Given the description of an element on the screen output the (x, y) to click on. 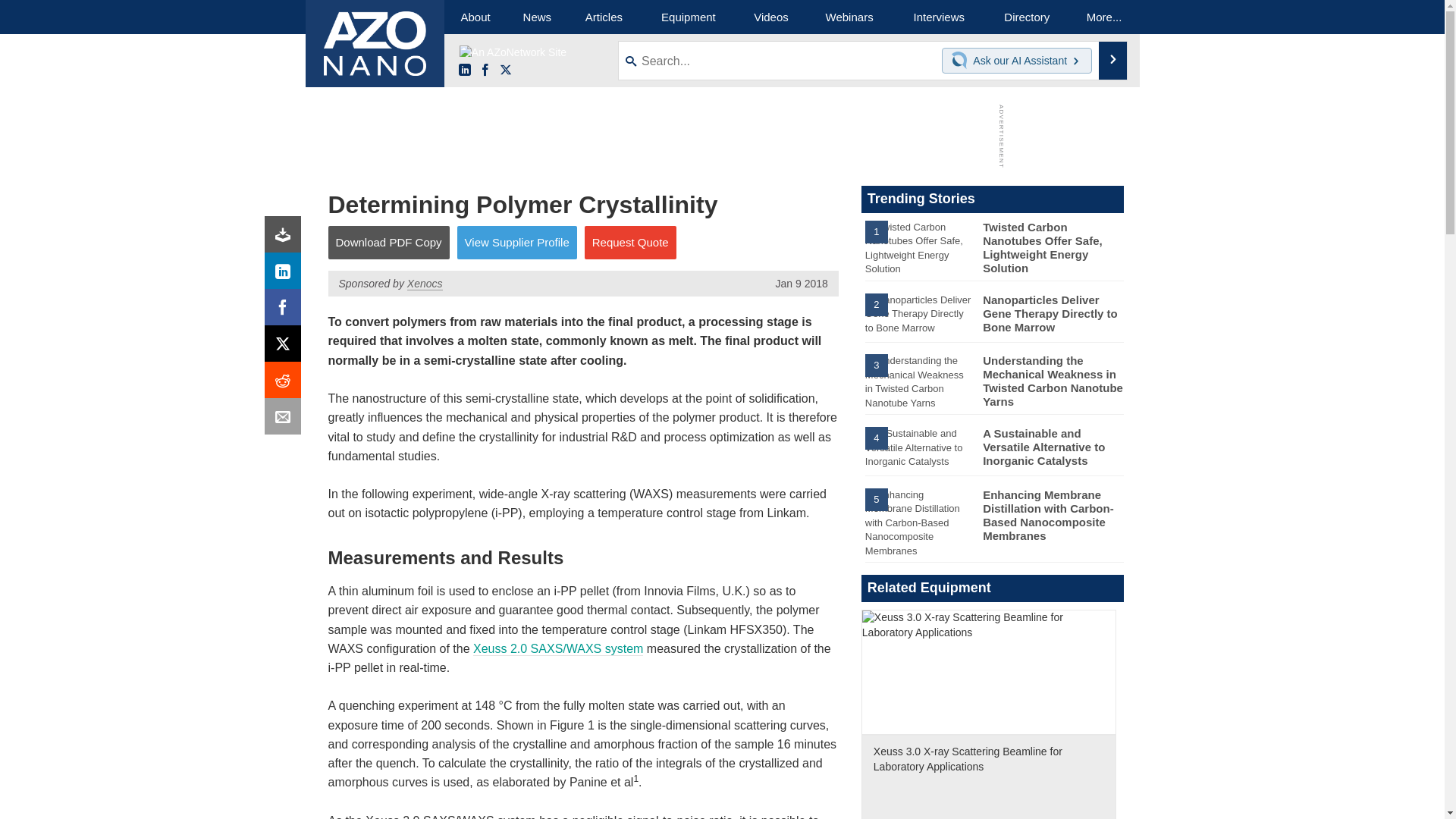
Email (285, 420)
Interviews (939, 17)
X (505, 70)
More... (1104, 17)
News (536, 17)
Chat with our AI Assistant (962, 60)
Facebook (285, 311)
Facebook (485, 70)
LinkedIn (285, 275)
